Given the description of an element on the screen output the (x, y) to click on. 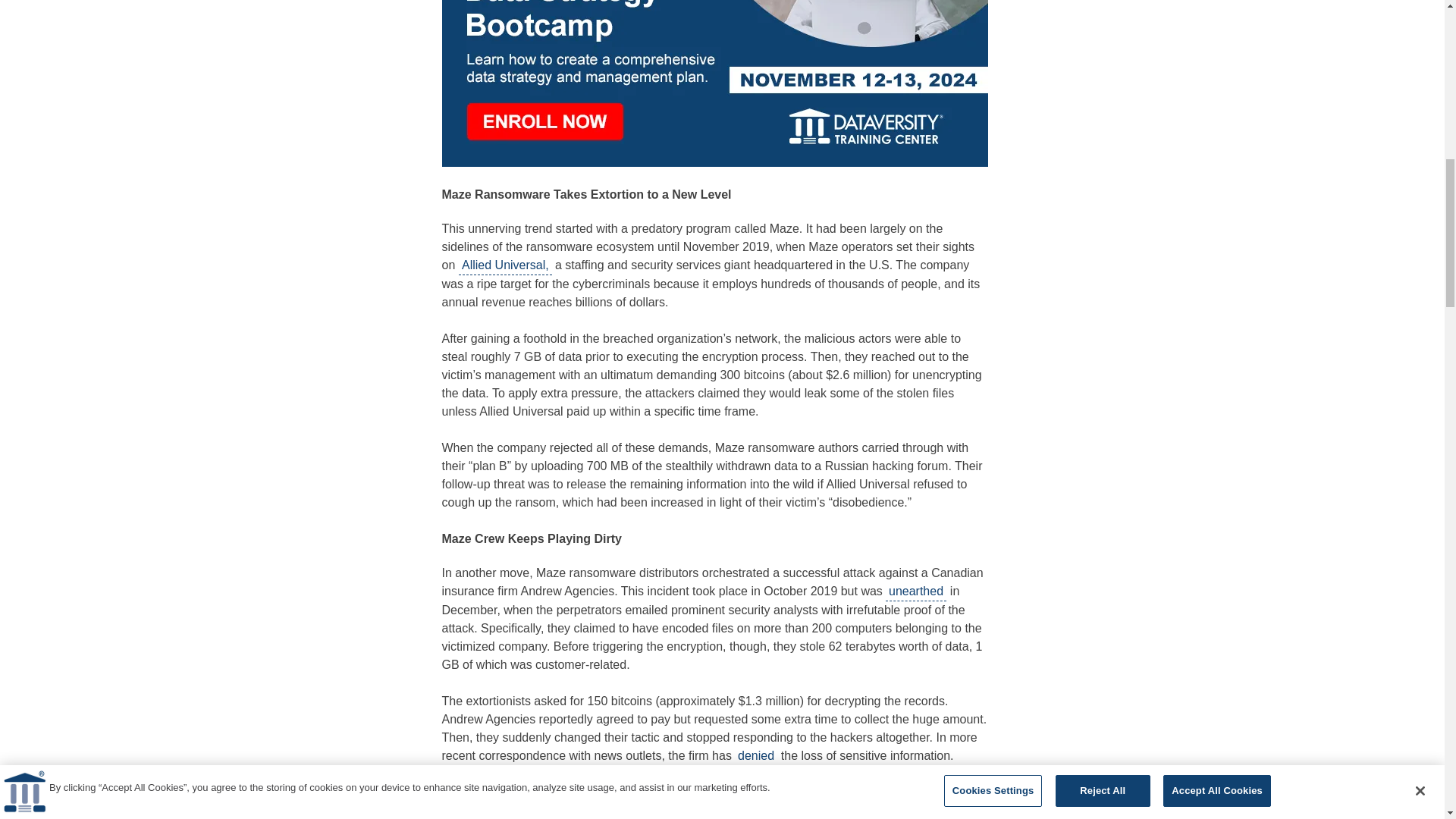
unearthed (915, 591)
denied (756, 755)
Allied Universal, (504, 265)
